Given the description of an element on the screen output the (x, y) to click on. 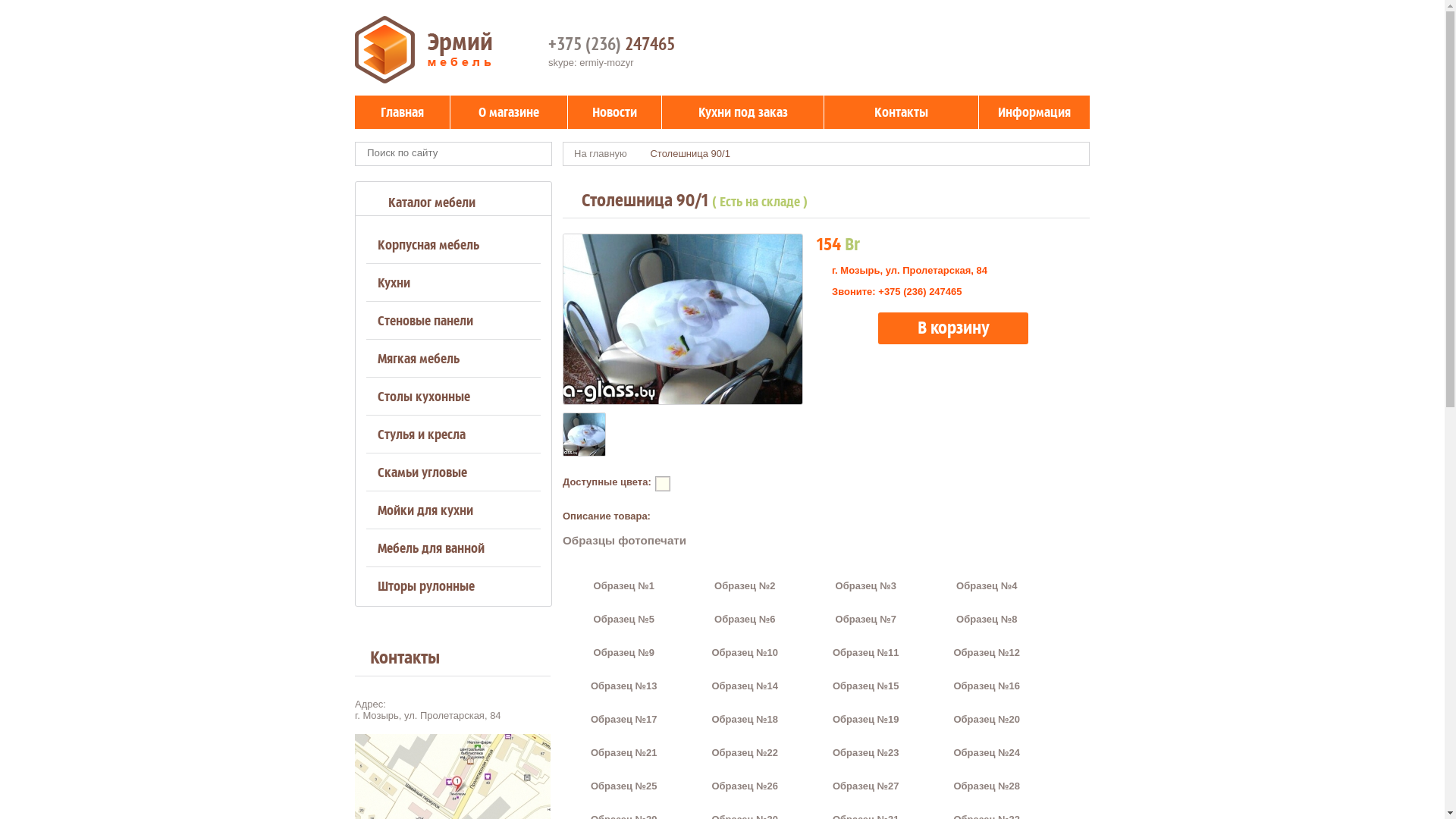
skype: ermiy-mozyr Element type: text (590, 62)
